Given the description of an element on the screen output the (x, y) to click on. 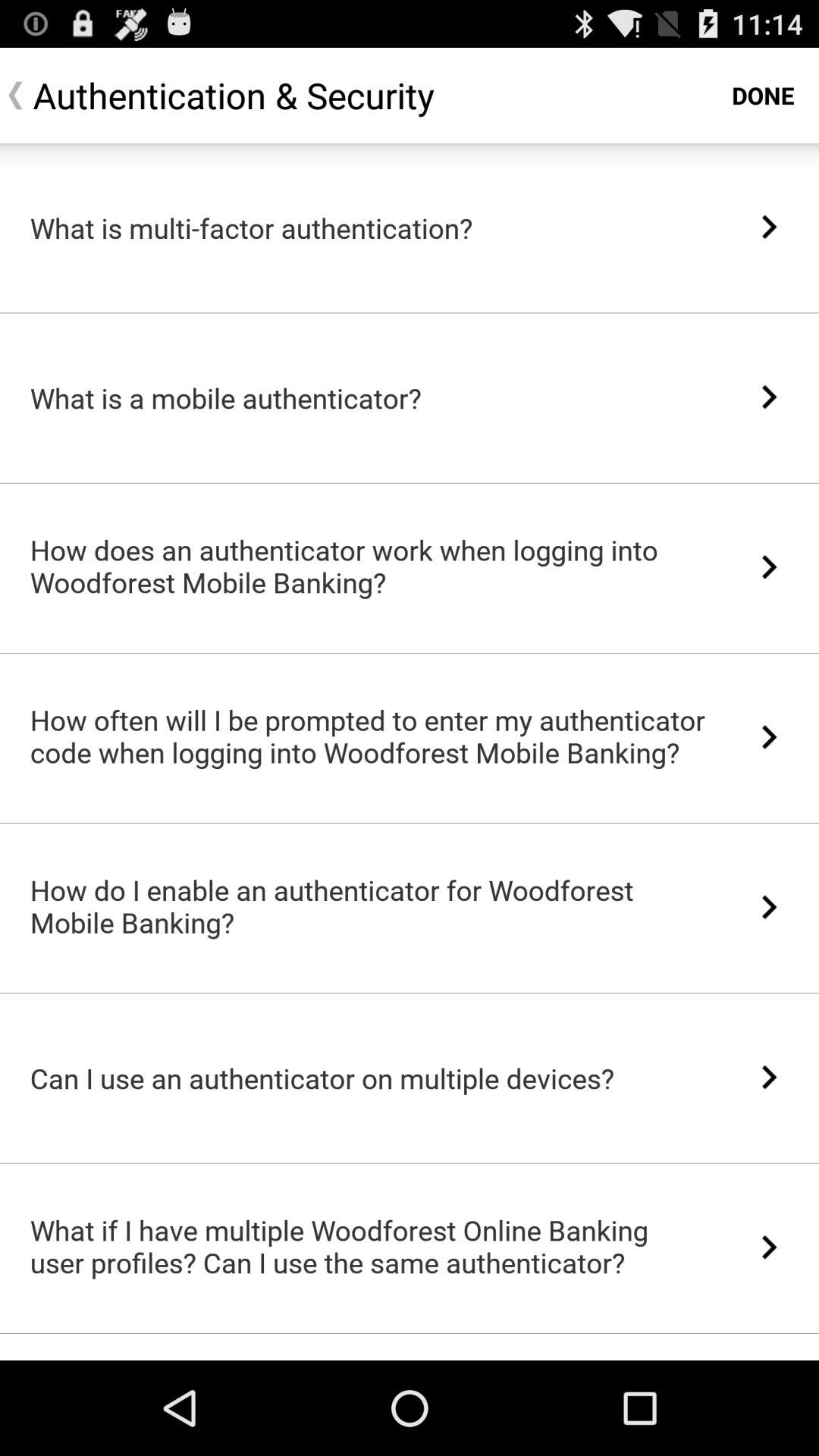
choose done (763, 95)
